Given the description of an element on the screen output the (x, y) to click on. 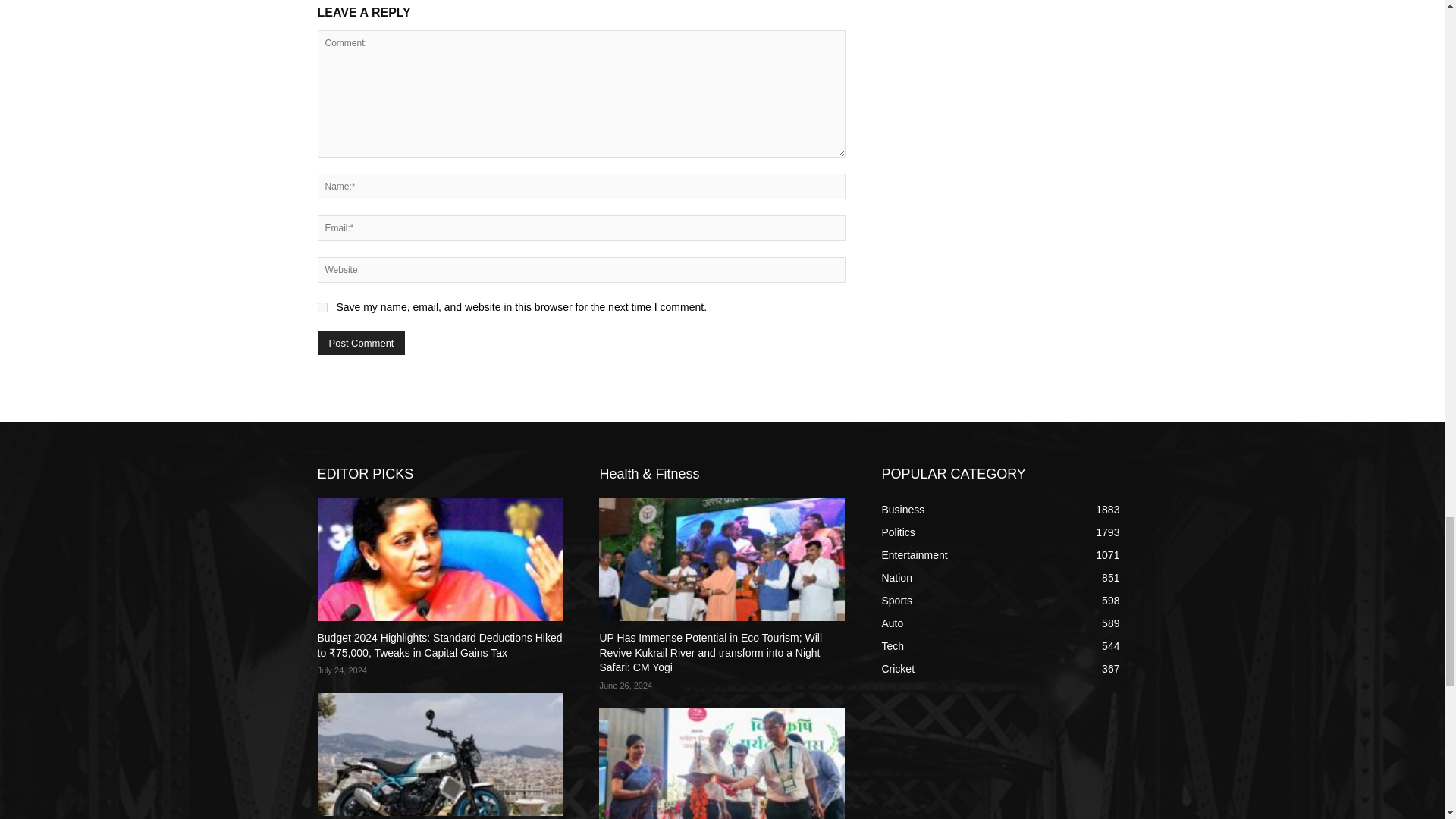
Post Comment (360, 342)
yes (321, 307)
